Given the description of an element on the screen output the (x, y) to click on. 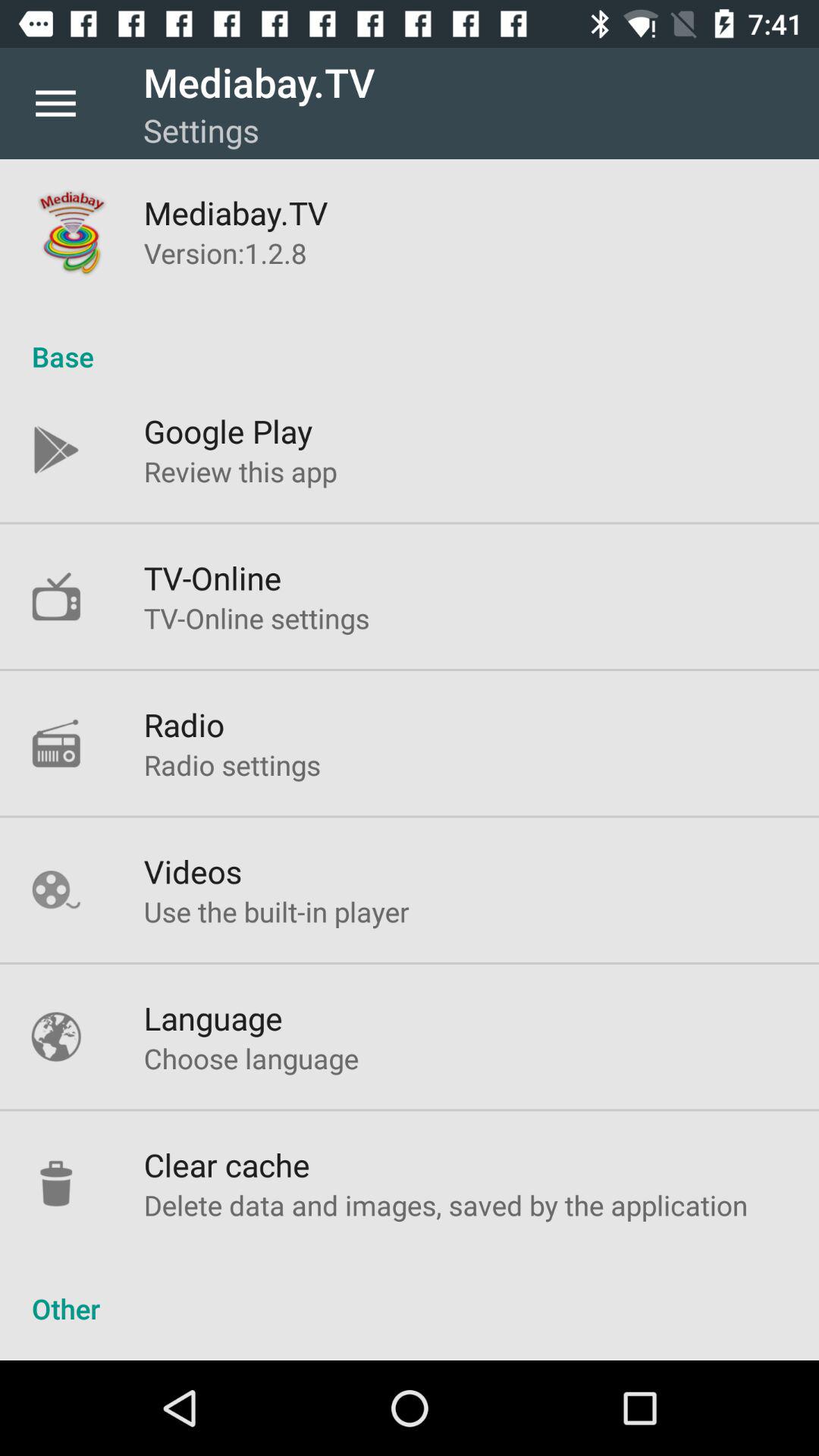
turn on the item below clear cache item (445, 1204)
